Given the description of an element on the screen output the (x, y) to click on. 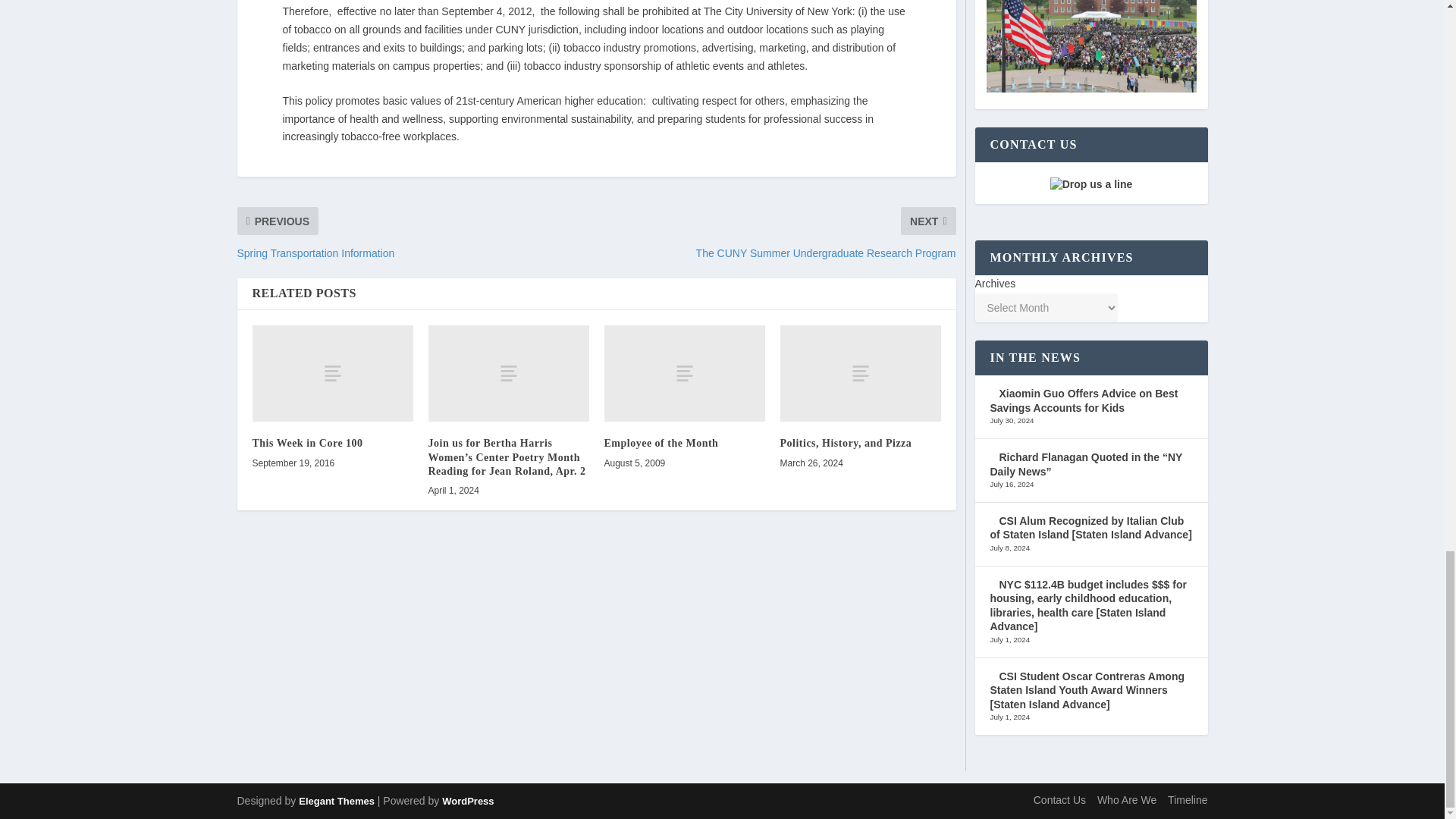
Employee of the Month (684, 373)
Politics, History, and Pizza (859, 373)
This Week in Core 100 (331, 373)
Premium WordPress Themes (336, 800)
This Week in Core 100 (306, 442)
Politics, History, and Pizza (844, 442)
Employee of the Month (660, 442)
